Given the description of an element on the screen output the (x, y) to click on. 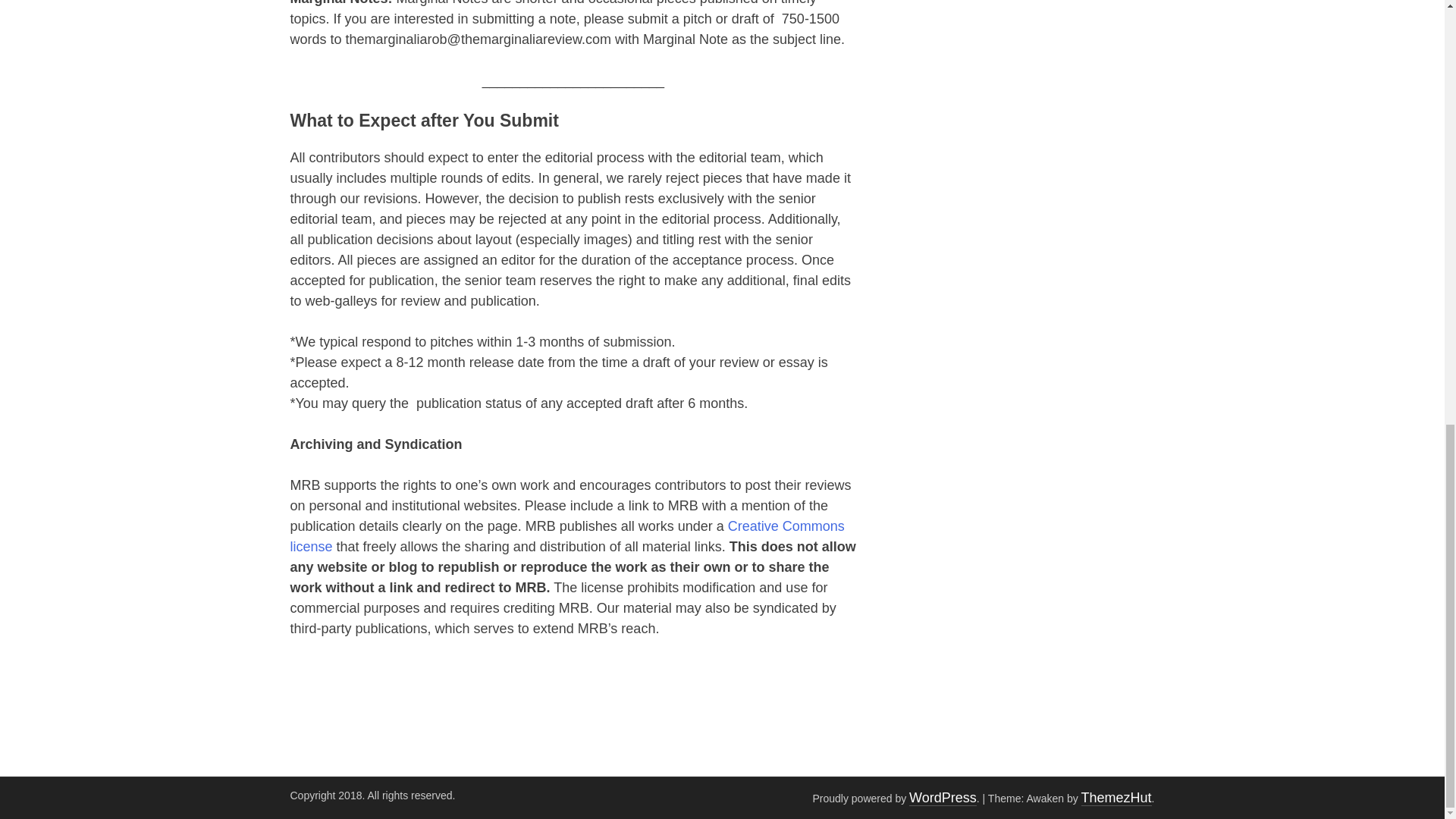
WordPress (942, 797)
Creative Commons license (566, 536)
ThemezHut (1116, 797)
WordPress (942, 797)
